Given the description of an element on the screen output the (x, y) to click on. 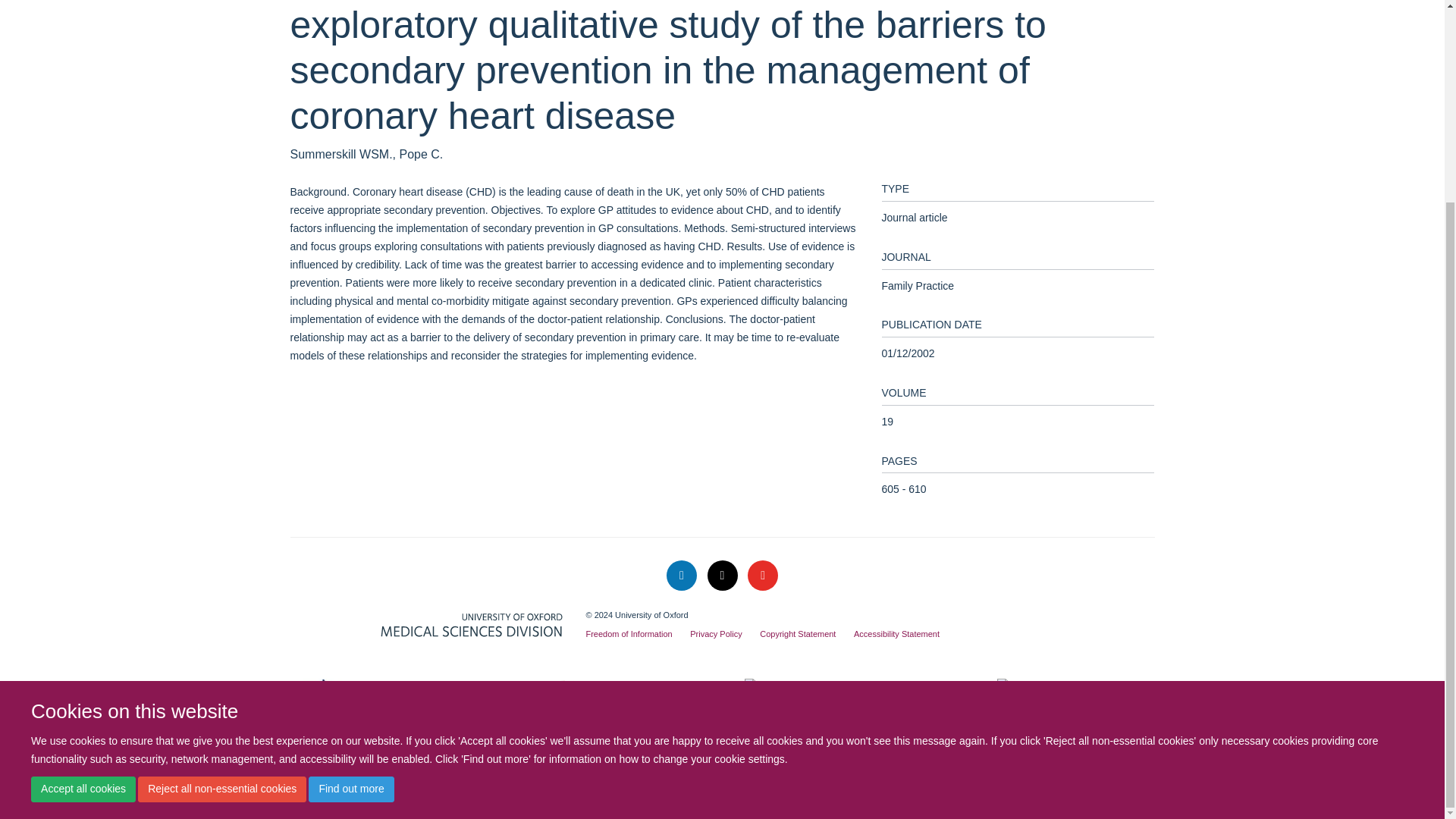
Reject all non-essential cookies (221, 530)
Find out more (350, 530)
Accept all cookies (82, 530)
